Given the description of an element on the screen output the (x, y) to click on. 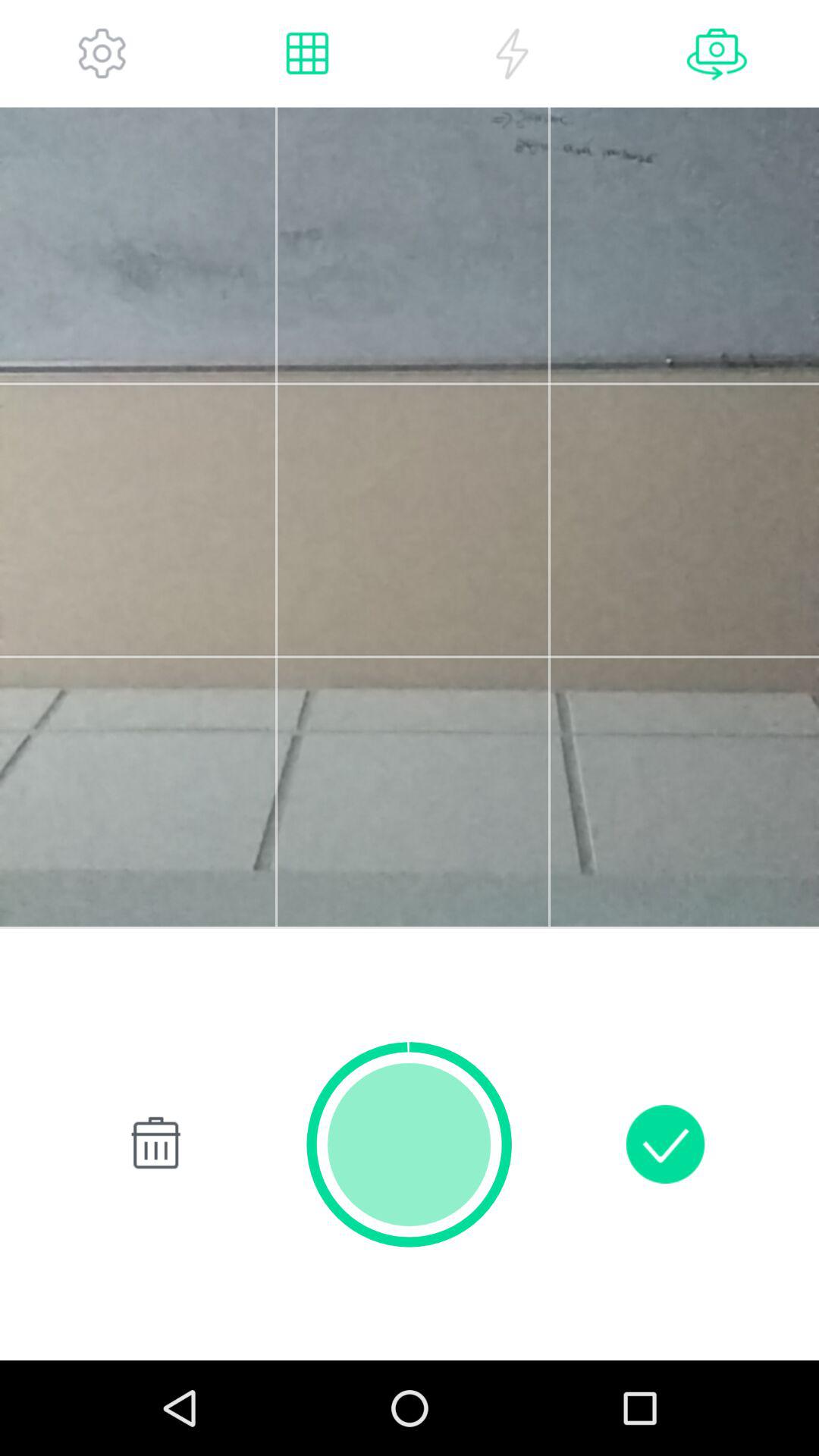
go to next (716, 53)
